Given the description of an element on the screen output the (x, y) to click on. 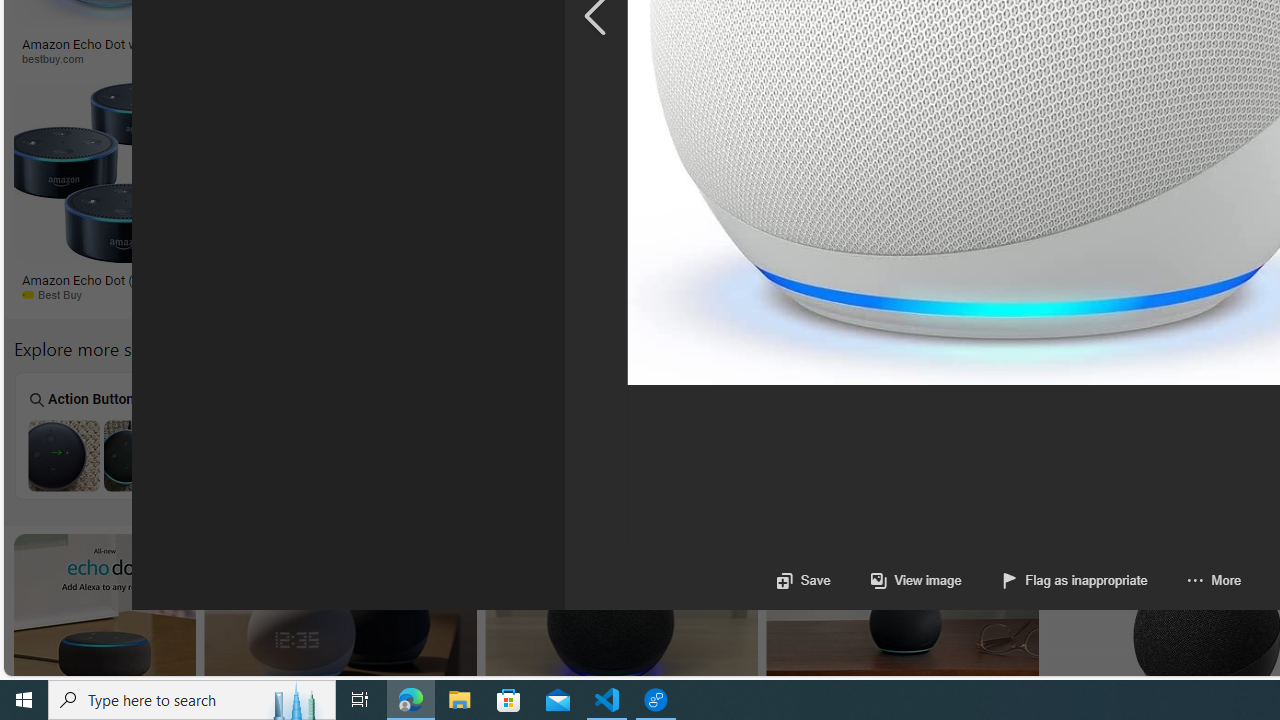
What Inside a Amazon Echo Dot (462, 455)
Save (802, 580)
Amazon Echo Dot Photo No Background No Background (281, 435)
New Zeeland PC World (267, 294)
View image (895, 580)
Amazon Echo Dot (2019) | TechRadar (1147, 279)
Best Buy (59, 294)
Kids Edition (641, 435)
Amazon Echo Dot 1st Generation (821, 455)
Flag as inappropriate (1074, 580)
